Given the description of an element on the screen output the (x, y) to click on. 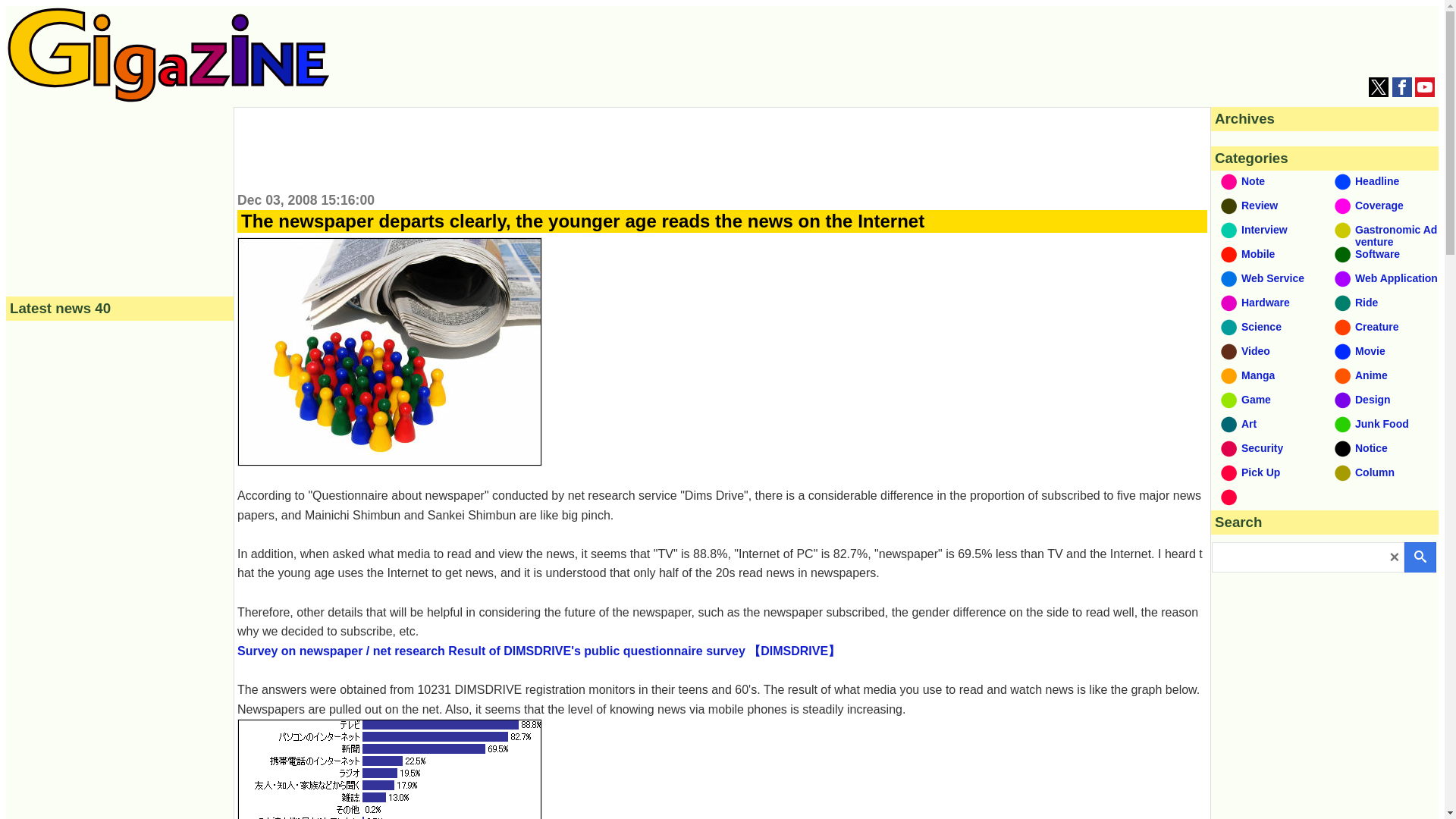
Review (1267, 207)
GIGAZINE (168, 97)
GIGAZINE (168, 54)
Note (1267, 182)
